Given the description of an element on the screen output the (x, y) to click on. 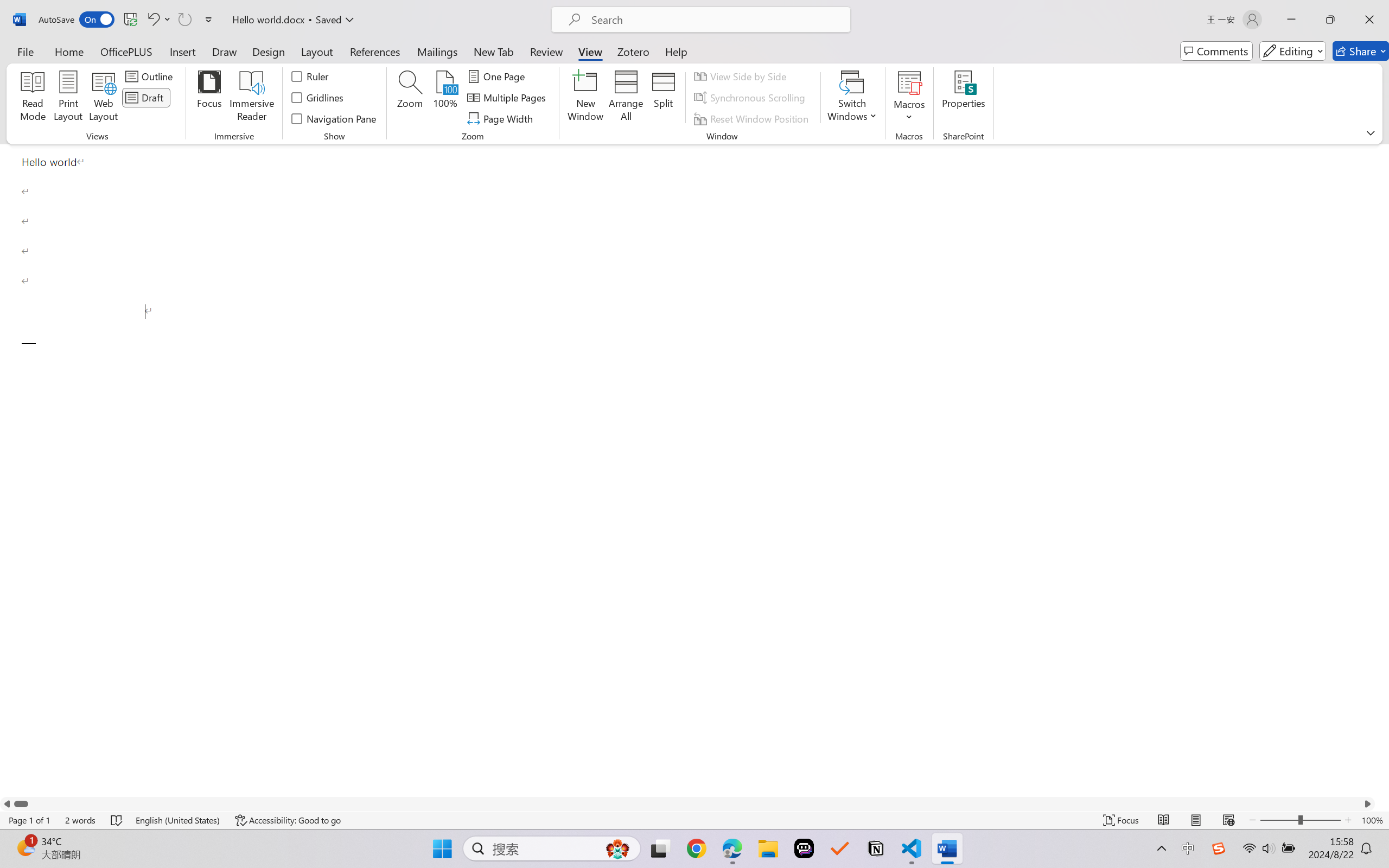
Minimize (1291, 19)
Switch Windows (852, 97)
Spelling and Grammar Check No Errors (117, 819)
Synchronous Scrolling (751, 97)
Zoom In (1348, 819)
Navigation Pane (334, 118)
AutomationID: DynamicSearchBoxGleamImage (617, 848)
Print Layout (1196, 819)
Zoom Out (1278, 819)
Accessibility Checker Accessibility: Good to go (288, 819)
Read Mode (1163, 819)
Arrange All (625, 97)
Zoom 100% (1372, 819)
Quick Access Toolbar (127, 19)
